Given the description of an element on the screen output the (x, y) to click on. 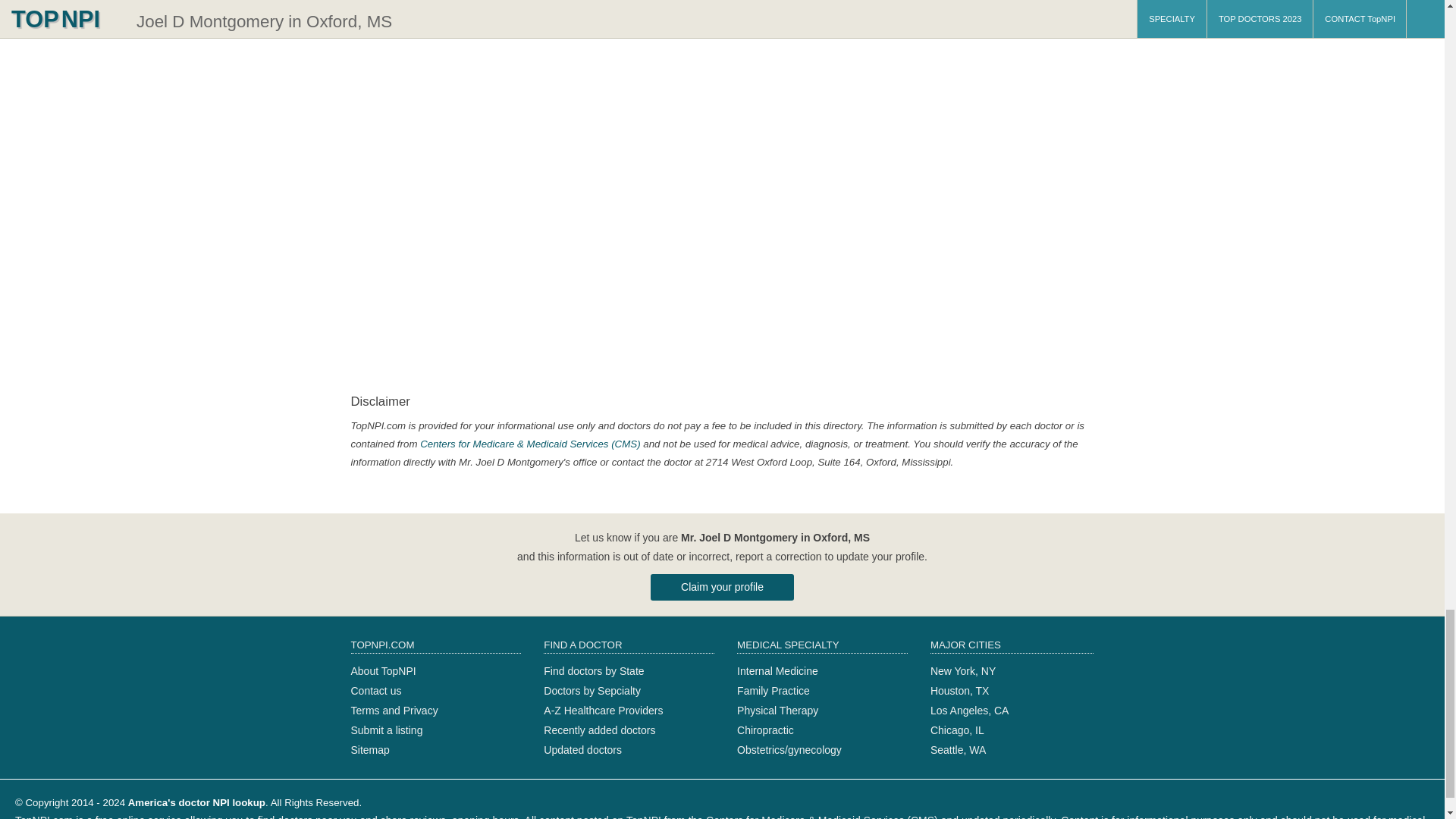
Claim your profile (721, 587)
